Given the description of an element on the screen output the (x, y) to click on. 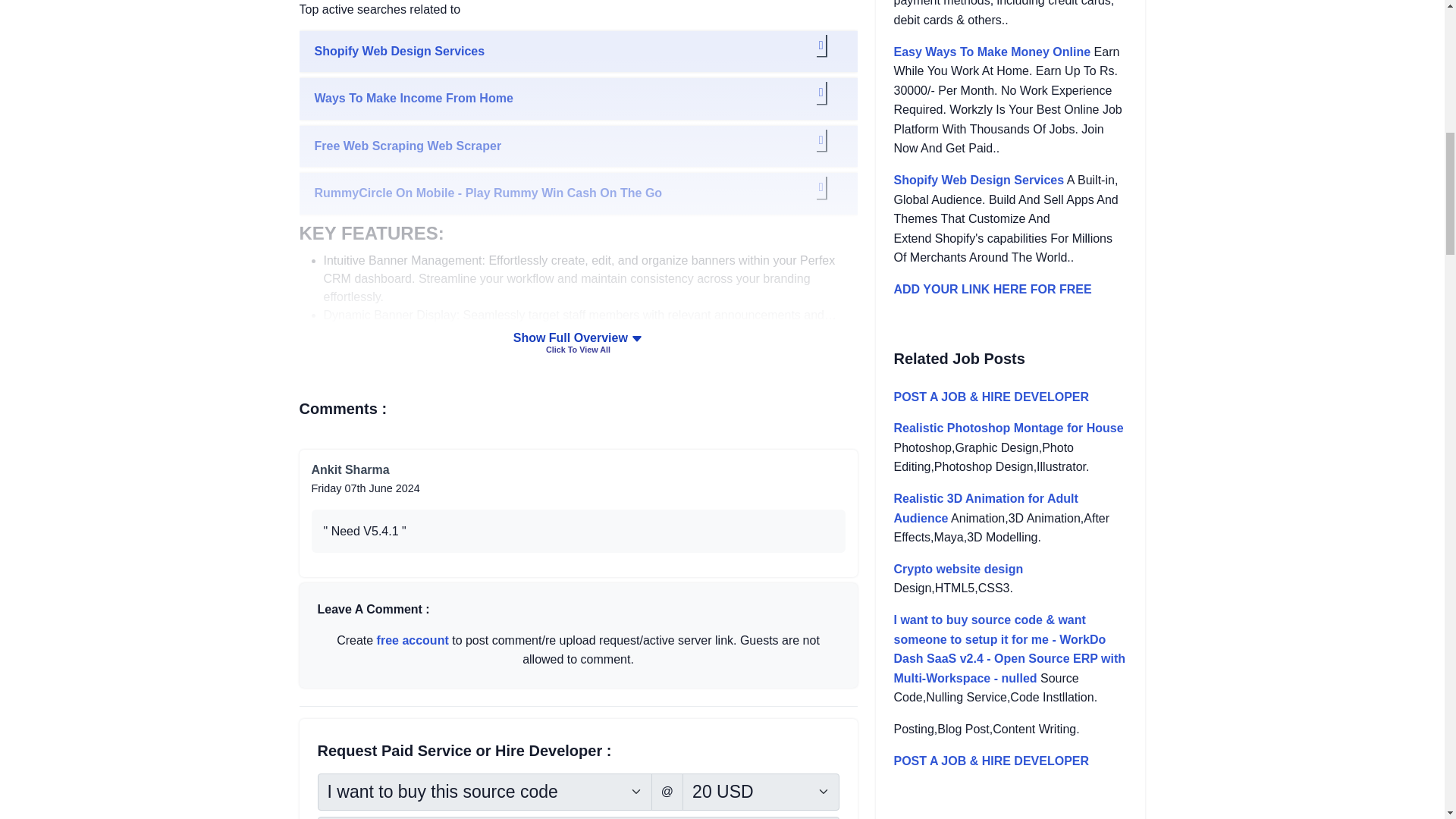
free account (412, 640)
RummyCircle On Mobile - Play Rummy Win Cash On The Go (577, 192)
Ways To Make Income From Home (577, 97)
Shopify Web Design Services (577, 51)
Free Web Scraping Web Scraper (577, 146)
